Given the description of an element on the screen output the (x, y) to click on. 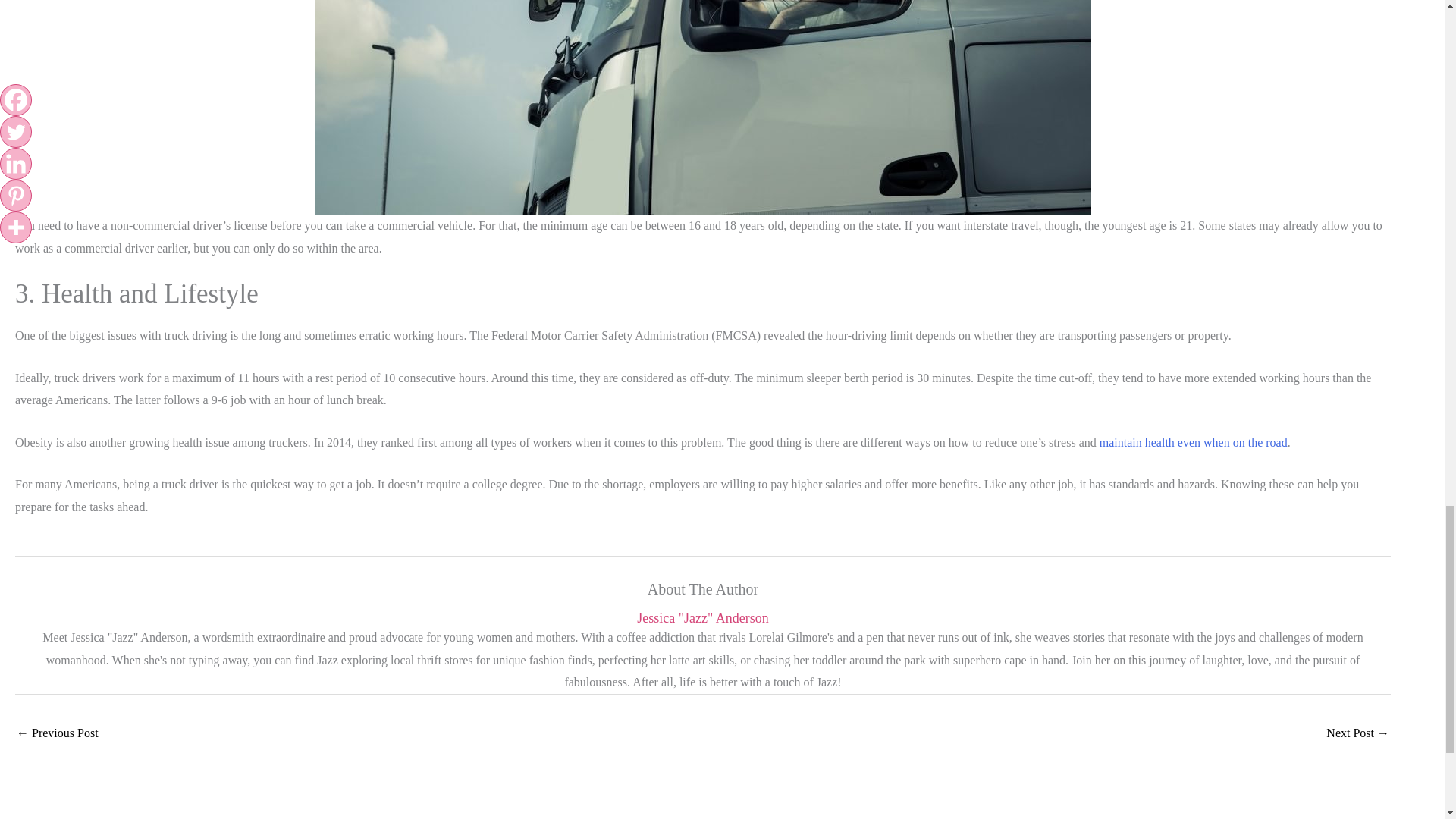
The WHY of Your Event (1357, 734)
maintain health even when on the road (1193, 441)
Dating Help From The Cosmetic Dentist In Bromley (57, 734)
Jessica "Jazz" Anderson (702, 618)
The Balance Careers (1193, 441)
